Given the description of an element on the screen output the (x, y) to click on. 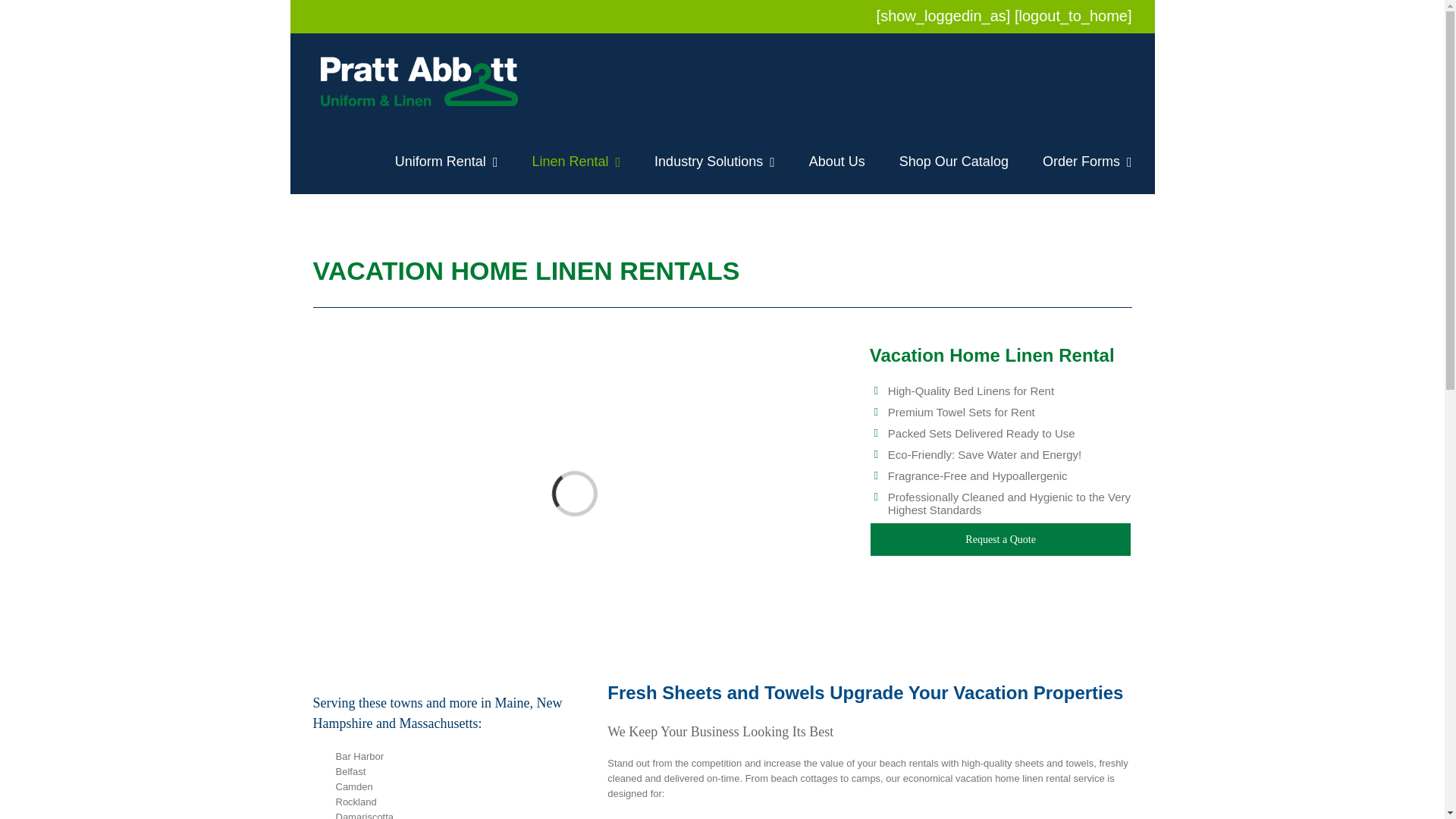
Request a Quote (1000, 539)
Uniform Rental (445, 161)
Linen Rental (575, 161)
Industry Solutions (713, 161)
Shop Our Catalog (954, 161)
Order Forms (1087, 161)
